Given the description of an element on the screen output the (x, y) to click on. 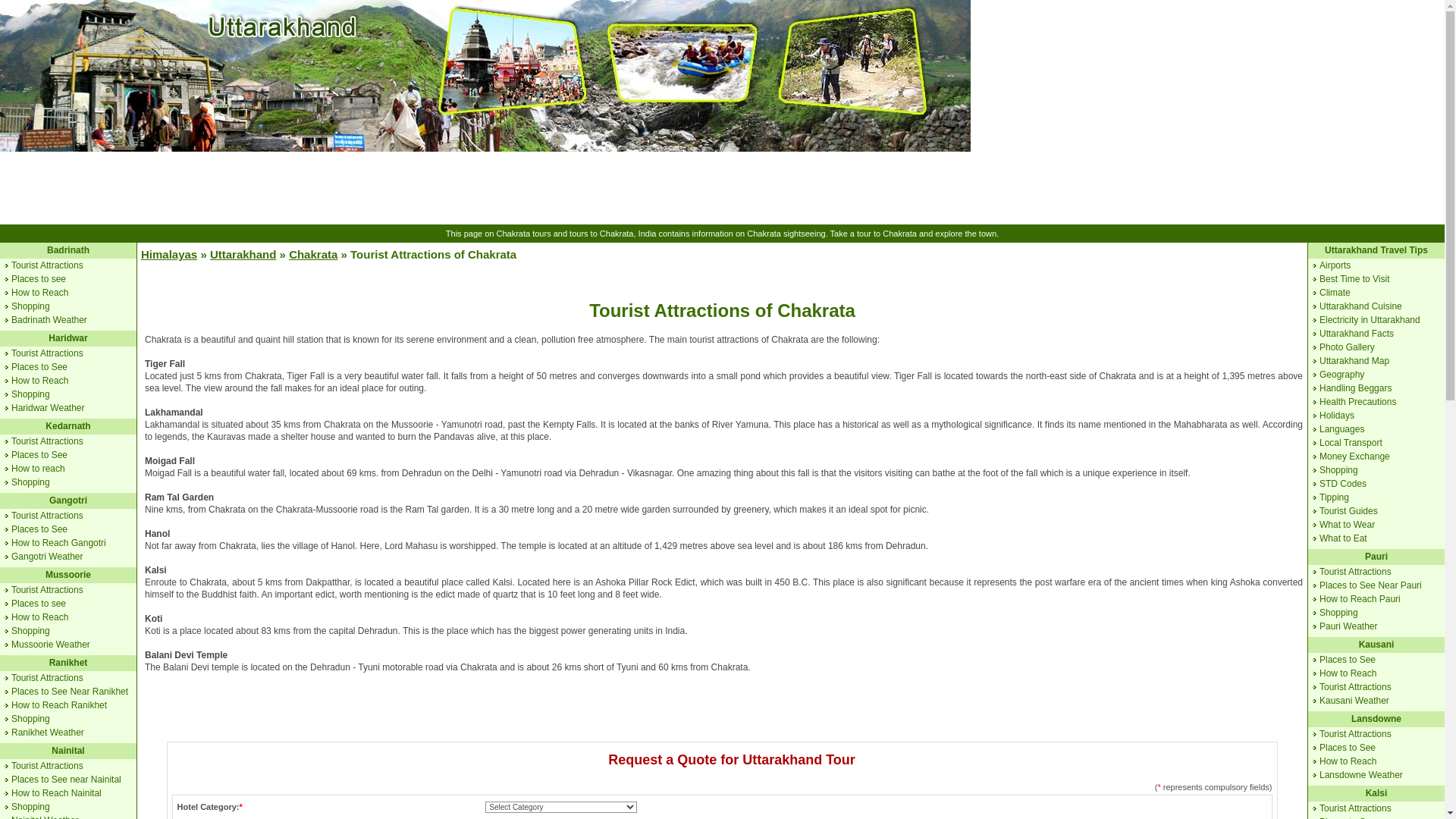
How to reach (38, 468)
Badrinath (67, 249)
How to Reach Nainital (56, 792)
How to Reach (39, 616)
Nainital Weather (44, 816)
Shopping (30, 306)
Tourist Attractions (46, 765)
Badrinath Weather (49, 319)
Advertisement (721, 187)
Places to see (38, 278)
